Given the description of an element on the screen output the (x, y) to click on. 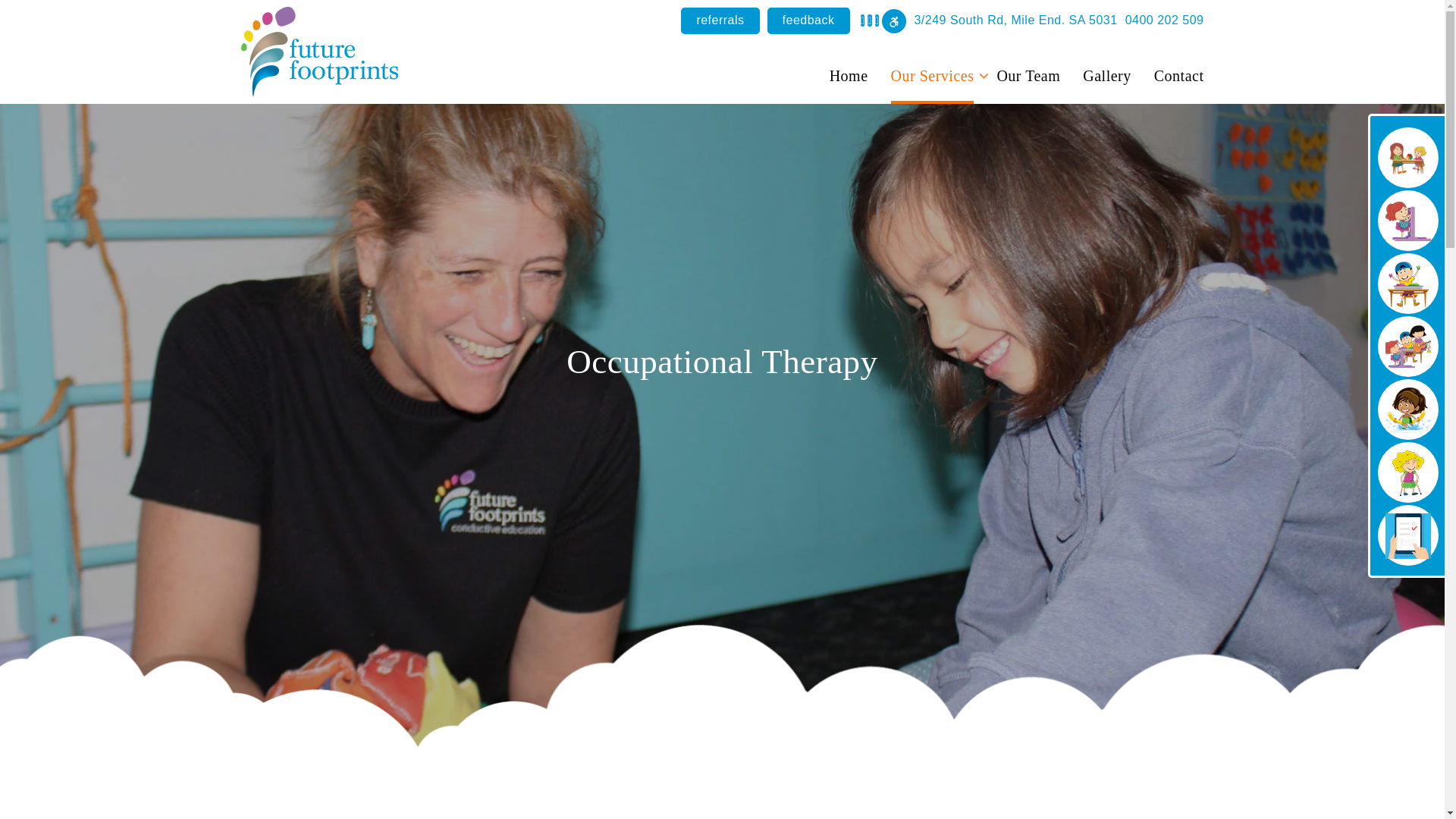
Our Services Element type: text (932, 68)
Our Team Element type: text (1028, 68)
3/249 South Rd, Mile End. SA 5031 Element type: text (1015, 20)
Gallery Element type: text (1106, 68)
referrals Element type: text (719, 20)
feedback Element type: text (808, 20)
0400 202 509 Element type: text (1164, 20)
Contact Element type: text (1179, 68)
Home Element type: text (848, 68)
